Given the description of an element on the screen output the (x, y) to click on. 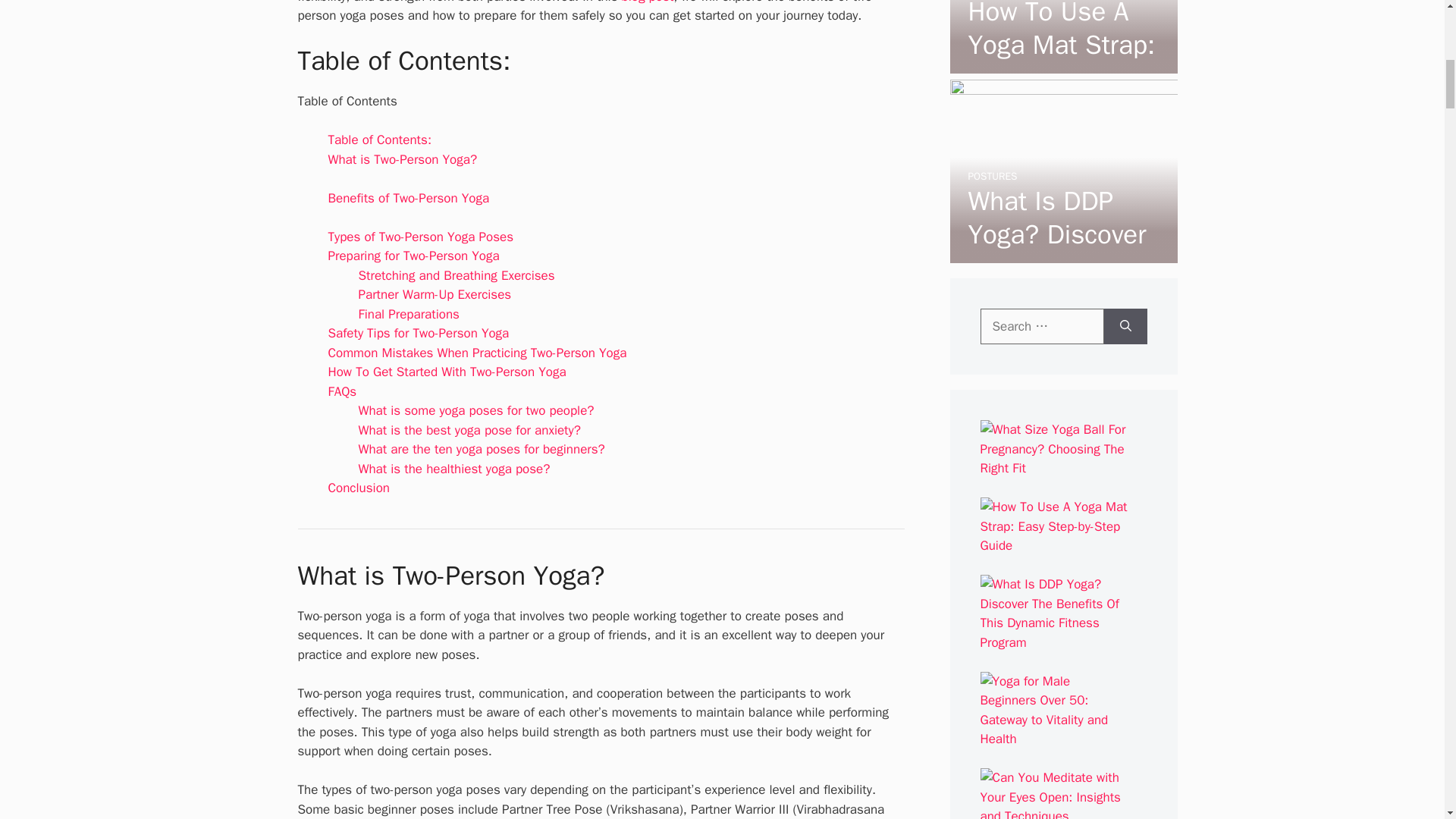
Blog Post (647, 2)
What is the best yoga pose for anxiety? (468, 430)
Stretching and Breathing Exercises (456, 275)
Safety Tips for Two-Person Yoga (417, 333)
What is some yoga poses for two people? (476, 410)
Final Preparations (408, 314)
Conclusion (357, 487)
blog post (647, 2)
What is the healthiest yoga pose? (454, 468)
Common Mistakes When Practicing Two-Person Yoga (476, 352)
How To Get Started With Two-Person Yoga (446, 371)
What is Two-Person Yoga? (402, 159)
FAQs (341, 391)
Benefits of Two-Person Yoga (408, 198)
What are the ten yoga poses for beginners? (481, 449)
